Given the description of an element on the screen output the (x, y) to click on. 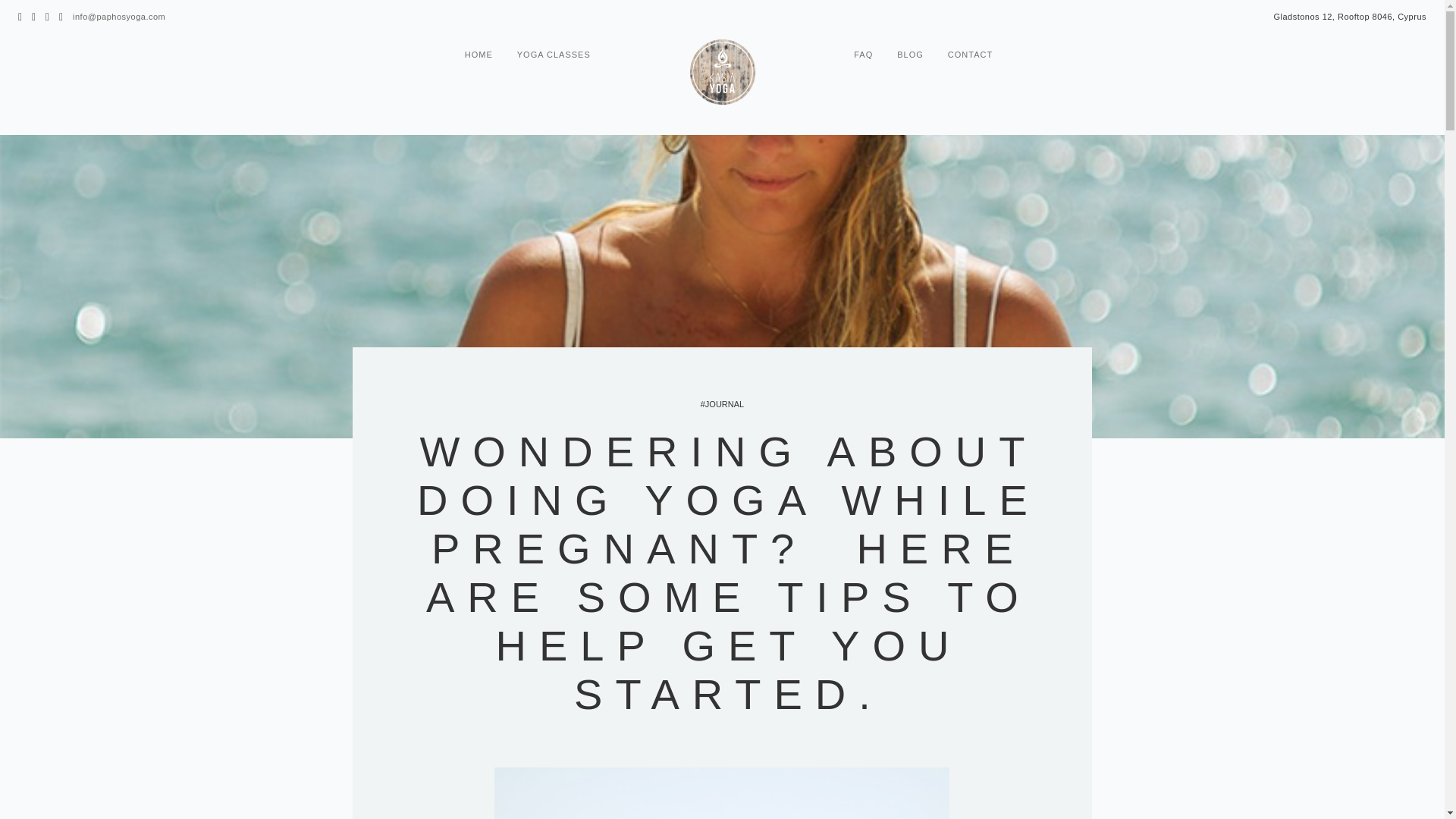
CONTACT (969, 57)
Gladstonos 12, Rooftop 8046, Cyprus (1349, 16)
JOURNAL (722, 403)
YOGA CLASSES (553, 57)
